Given the description of an element on the screen output the (x, y) to click on. 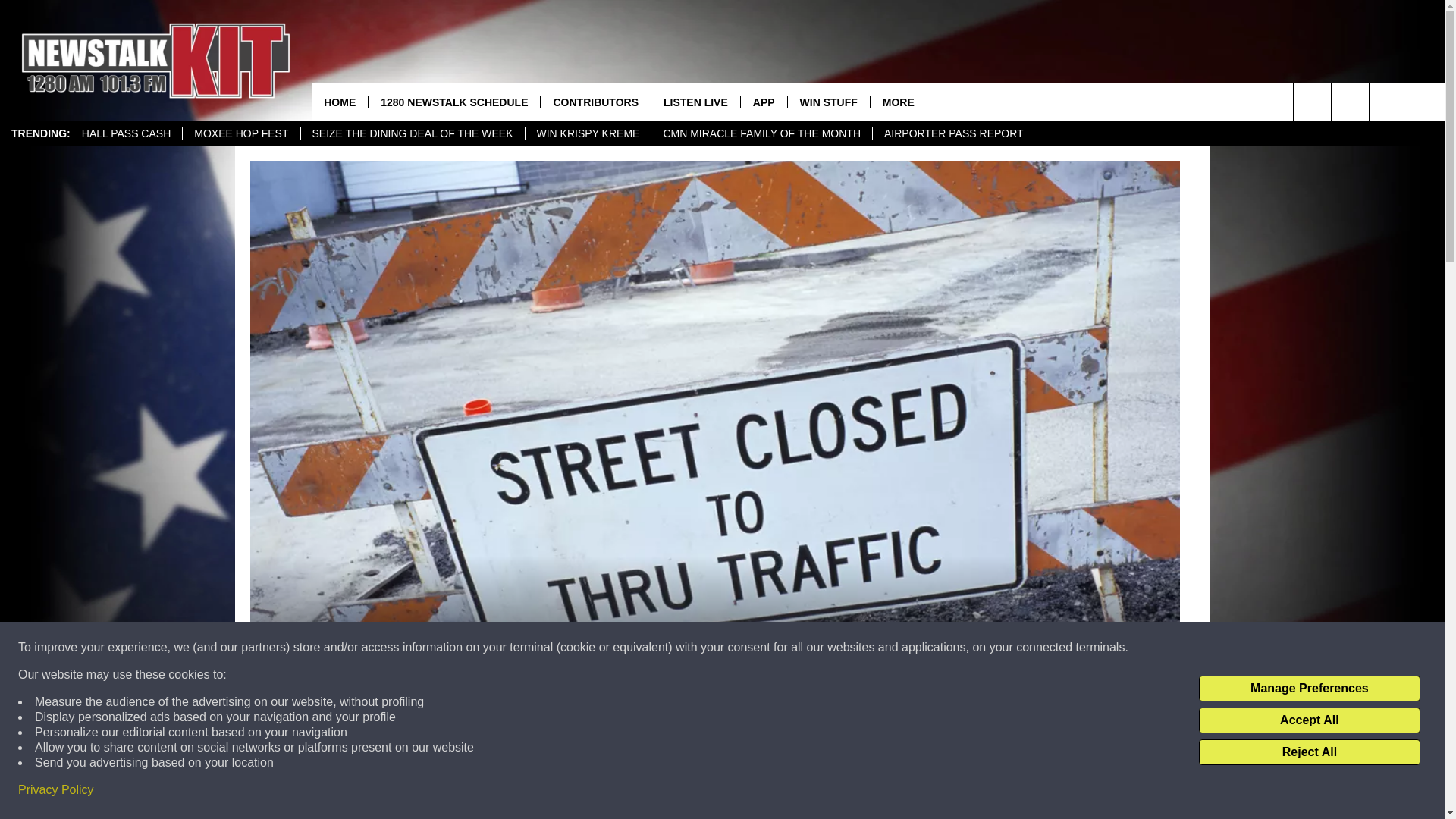
Reject All (1309, 751)
WIN KRISPY KREME (587, 133)
1280 NEWSTALK SCHEDULE (454, 102)
SEIZE THE DINING DEAL OF THE WEEK (411, 133)
HOME (339, 102)
MOXEE HOP FEST (240, 133)
Share on Facebook (517, 791)
Manage Preferences (1309, 688)
AIRPORTER PASS REPORT (953, 133)
HALL PASS CASH (126, 133)
LISTEN LIVE (694, 102)
CONTRIBUTORS (595, 102)
Privacy Policy (55, 789)
Share on Twitter (912, 791)
Accept All (1309, 720)
